Given the description of an element on the screen output the (x, y) to click on. 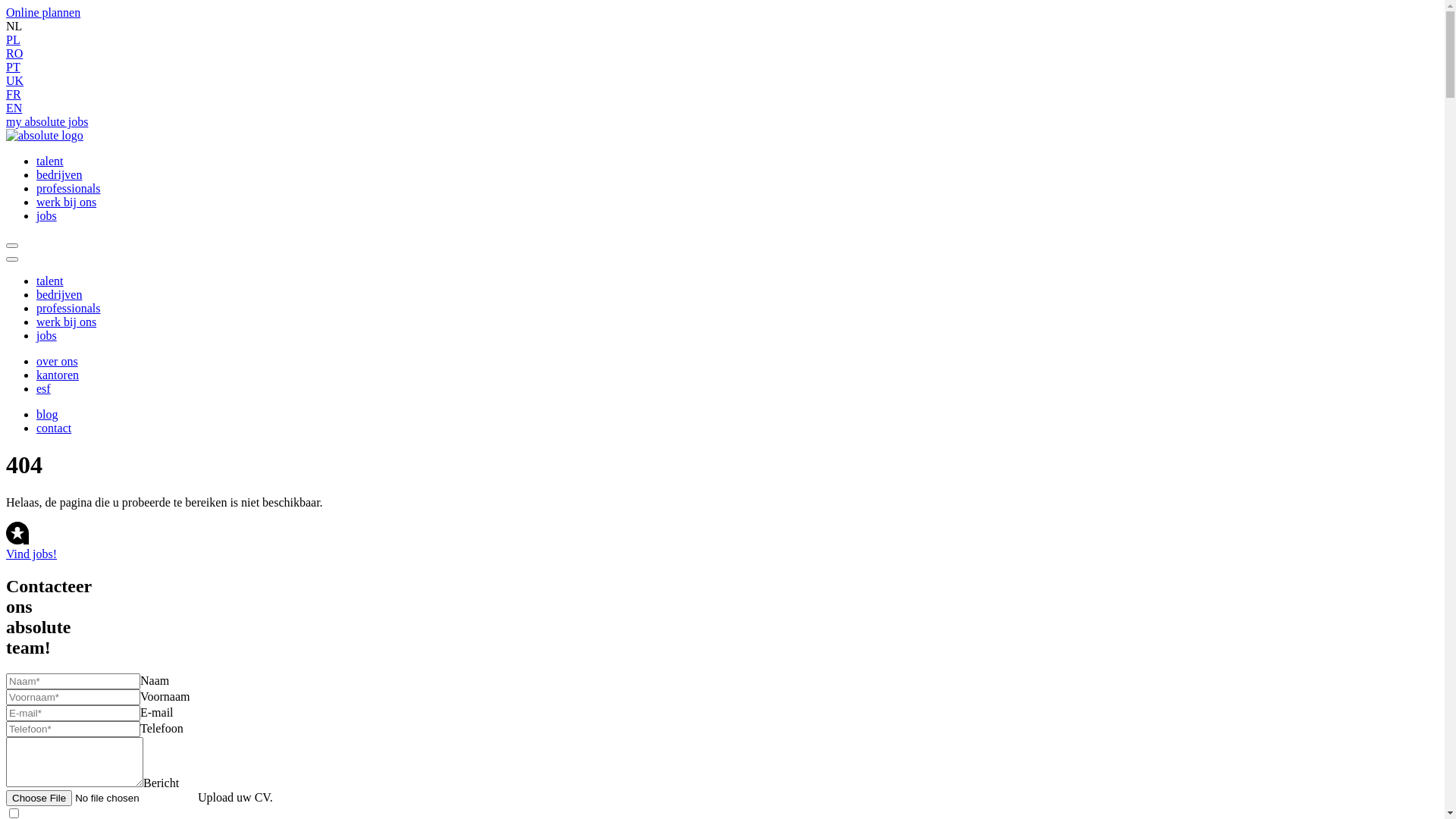
bedrijven Element type: text (58, 174)
Vind jobs! Element type: text (722, 540)
kantoren Element type: text (57, 374)
over ons Element type: text (57, 360)
esf Element type: text (43, 388)
blog Element type: text (46, 413)
professionals Element type: text (68, 307)
jobs Element type: text (46, 335)
UK Element type: text (14, 80)
werk bij ons Element type: text (66, 201)
PT Element type: text (13, 66)
RO Element type: text (14, 53)
professionals Element type: text (68, 188)
talent Element type: text (49, 160)
PL Element type: text (13, 39)
talent Element type: text (49, 280)
Online plannen Element type: text (43, 12)
contact Element type: text (53, 427)
bedrijven Element type: text (58, 294)
werk bij ons Element type: text (66, 321)
jobs Element type: text (46, 215)
EN Element type: text (13, 107)
my absolute jobs Element type: text (46, 121)
FR Element type: text (13, 93)
